Given the description of an element on the screen output the (x, y) to click on. 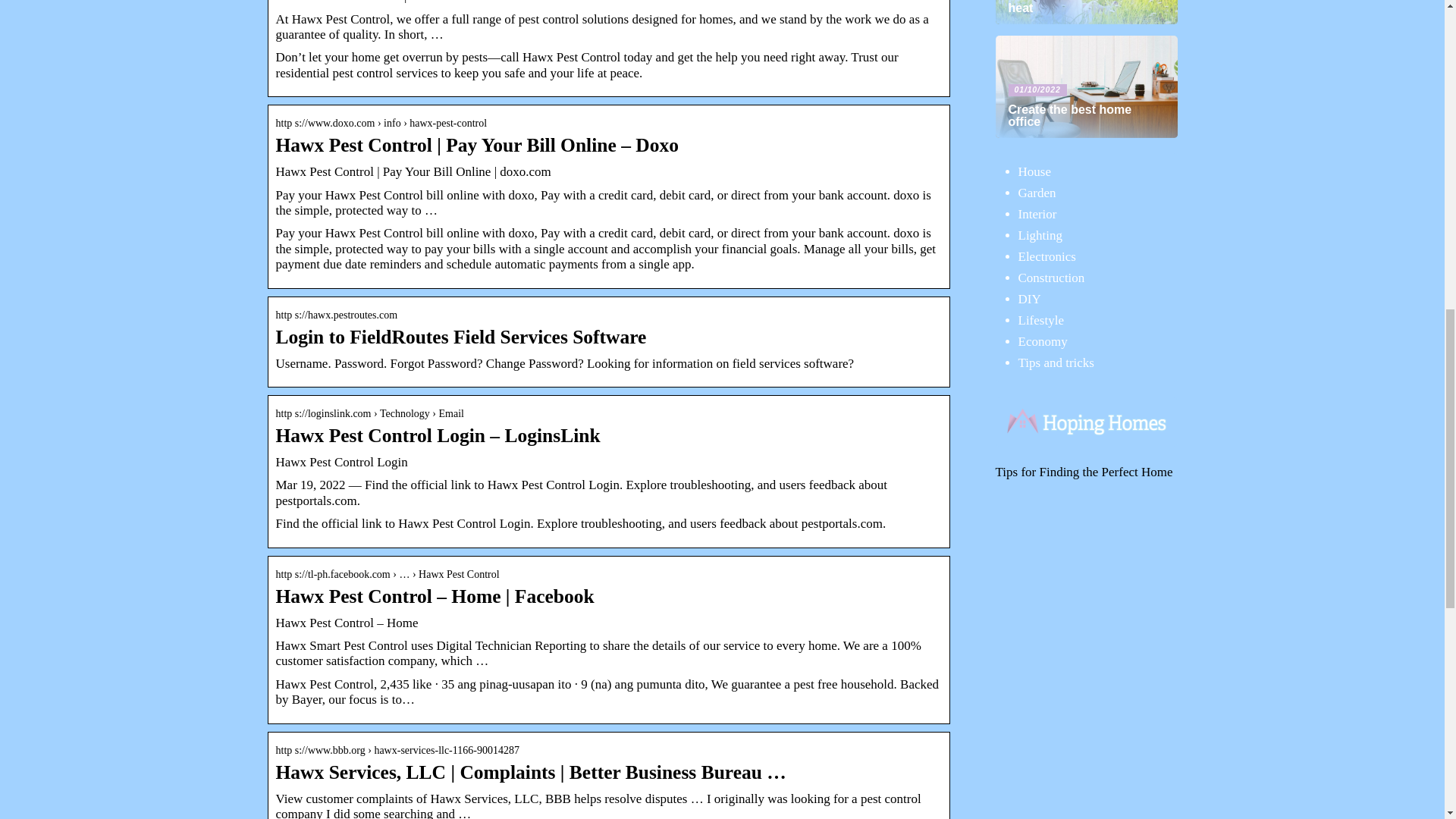
Construction (1050, 278)
Electronics (1046, 256)
DIY (1029, 298)
Tips and tricks (1055, 362)
Economy (1042, 341)
Lighting (1039, 235)
Tips for Finding the Perfect Home (1083, 472)
Lifestyle (1039, 319)
Garden (1036, 192)
Interior (1037, 214)
